Given the description of an element on the screen output the (x, y) to click on. 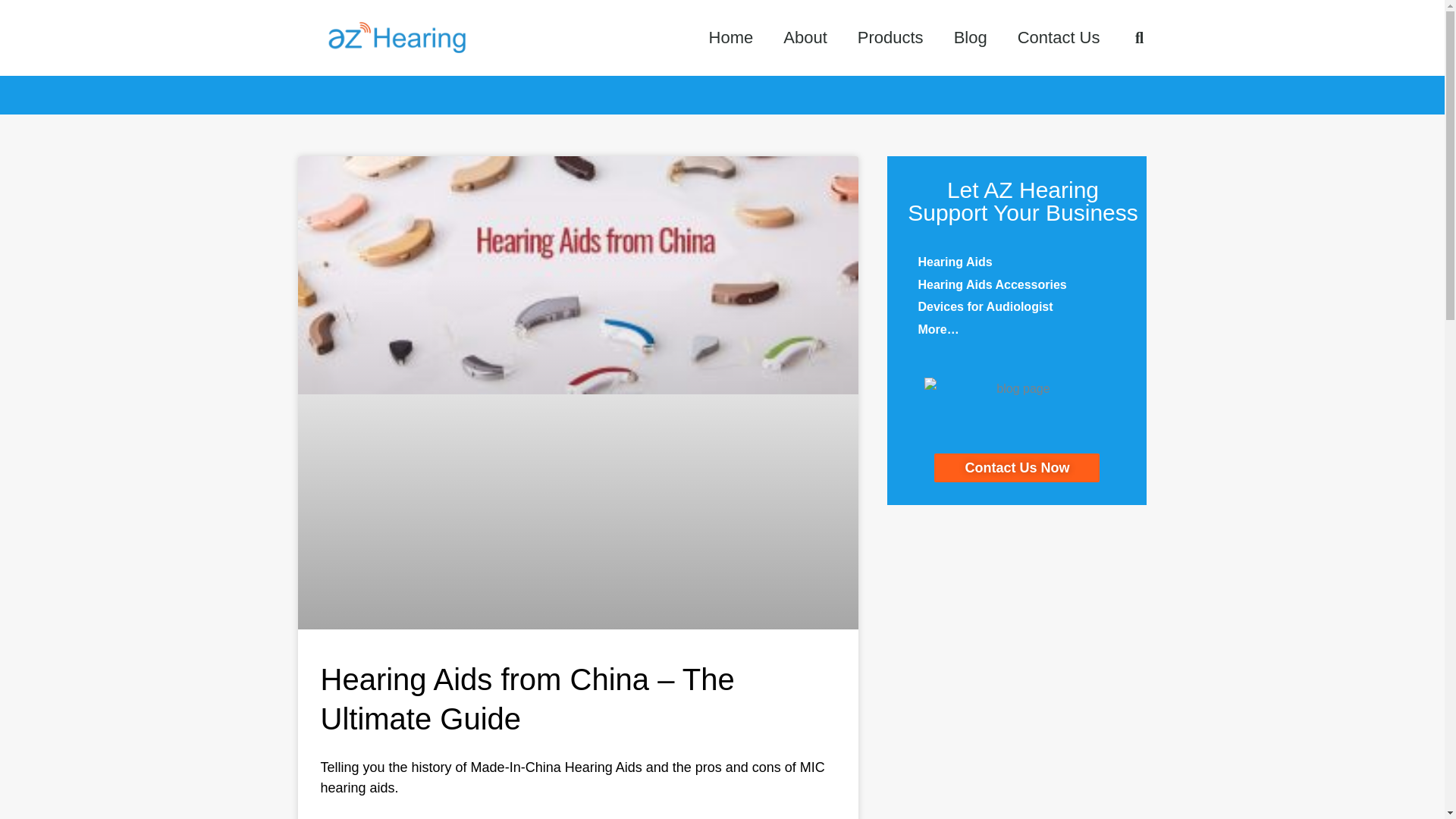
About (805, 38)
Products (891, 38)
Home (731, 38)
Contact Us (1059, 38)
